Given the description of an element on the screen output the (x, y) to click on. 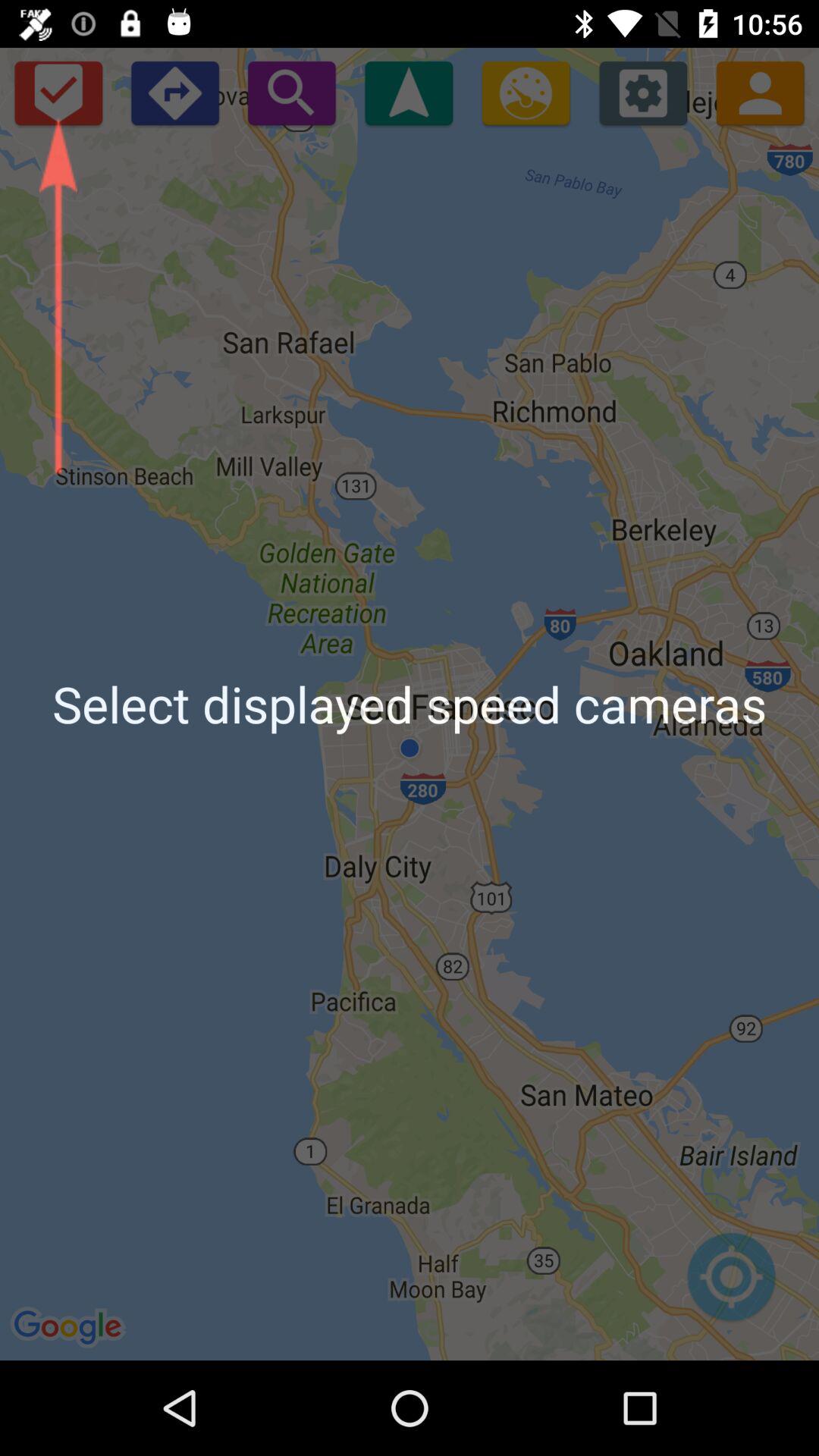
launch icon above select displayed speed (408, 92)
